Given the description of an element on the screen output the (x, y) to click on. 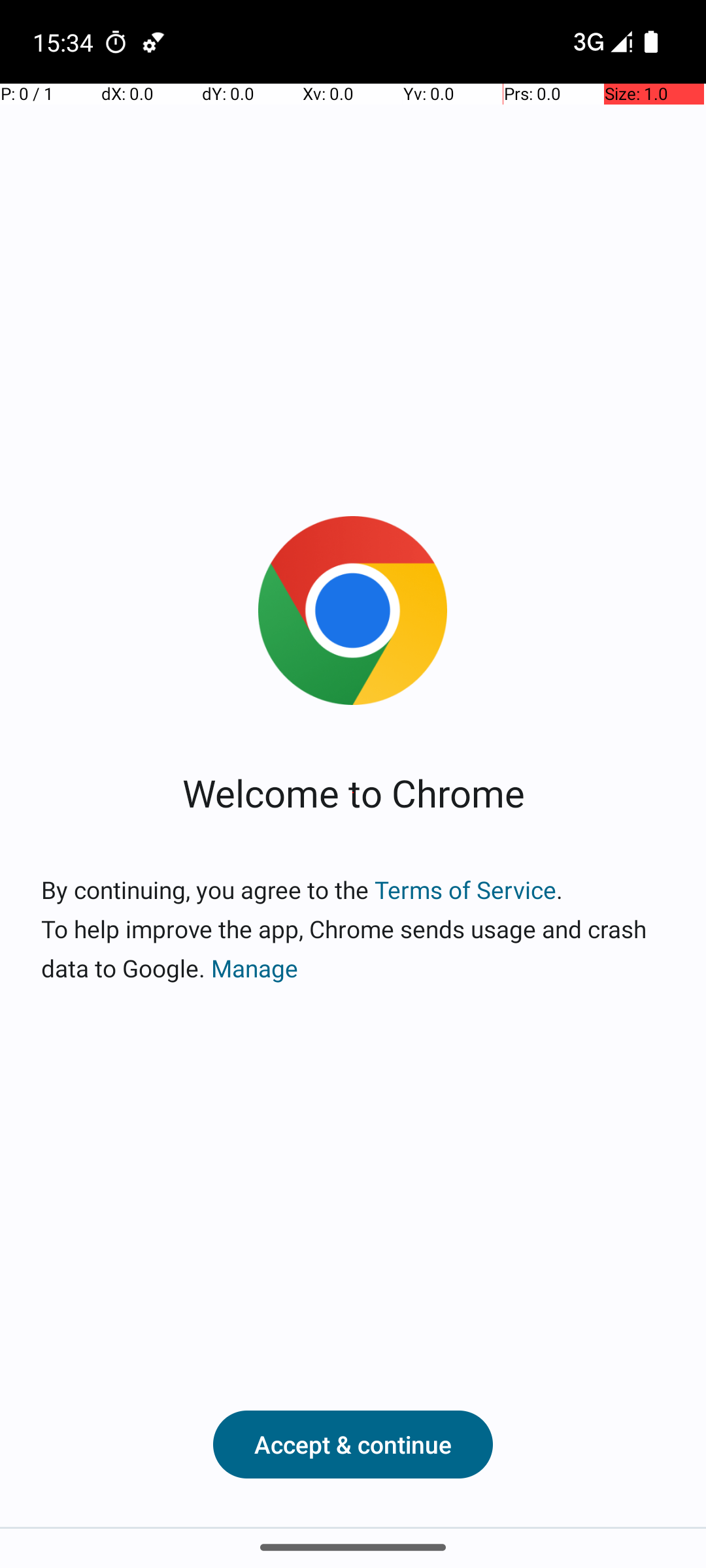
Android System notification: Wi‑Fi will turn on automatically Element type: android.widget.ImageView (153, 41)
